Given the description of an element on the screen output the (x, y) to click on. 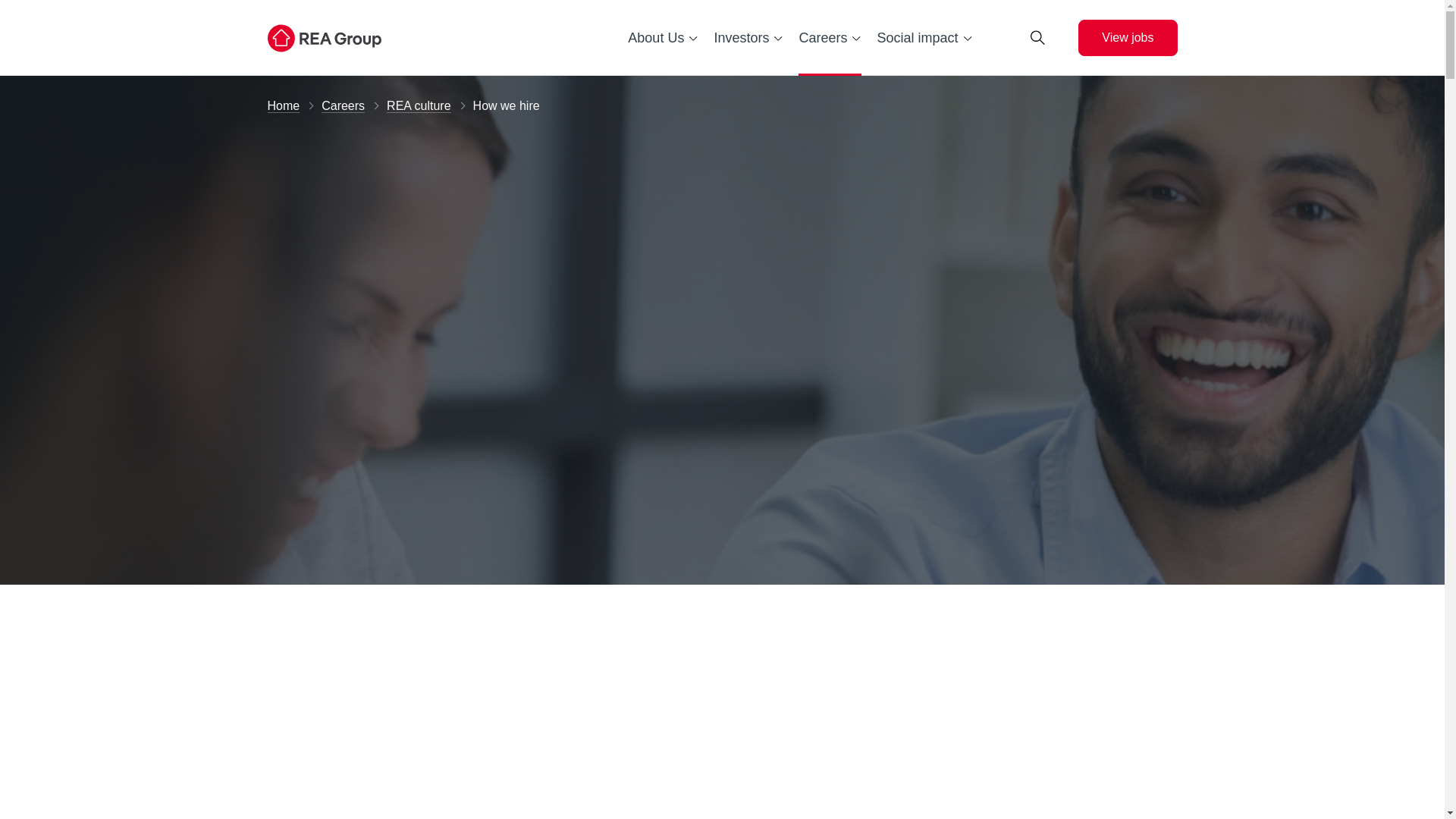
Go to Careers. (343, 106)
Go to home page (365, 37)
Careers (343, 106)
Go to REA culture. (418, 106)
Go to REA Group Ltd. (282, 106)
View jobs (1127, 37)
REA culture (418, 106)
Home (282, 106)
